Given the description of an element on the screen output the (x, y) to click on. 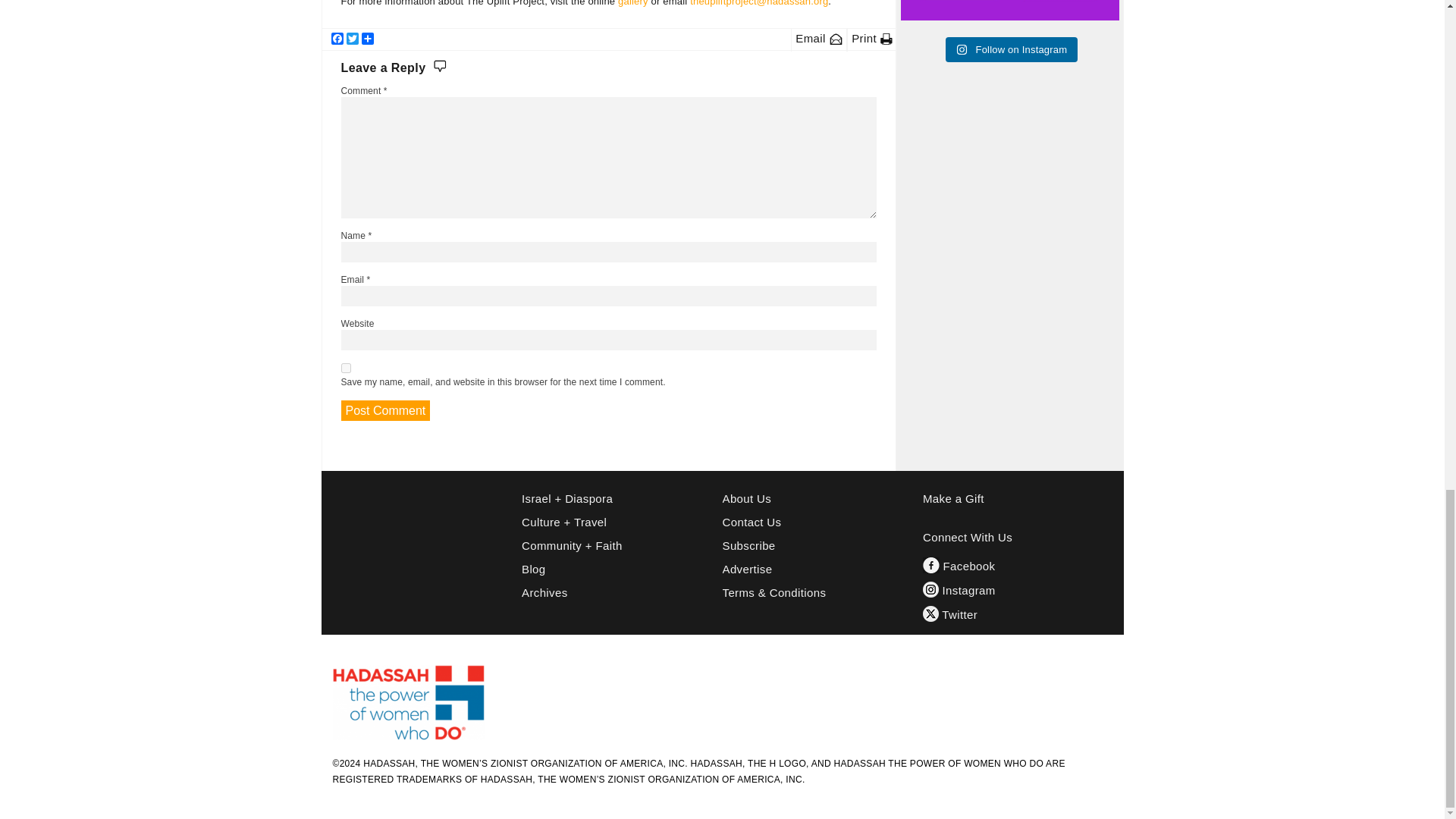
yes (345, 368)
Post Comment (385, 410)
